Given the description of an element on the screen output the (x, y) to click on. 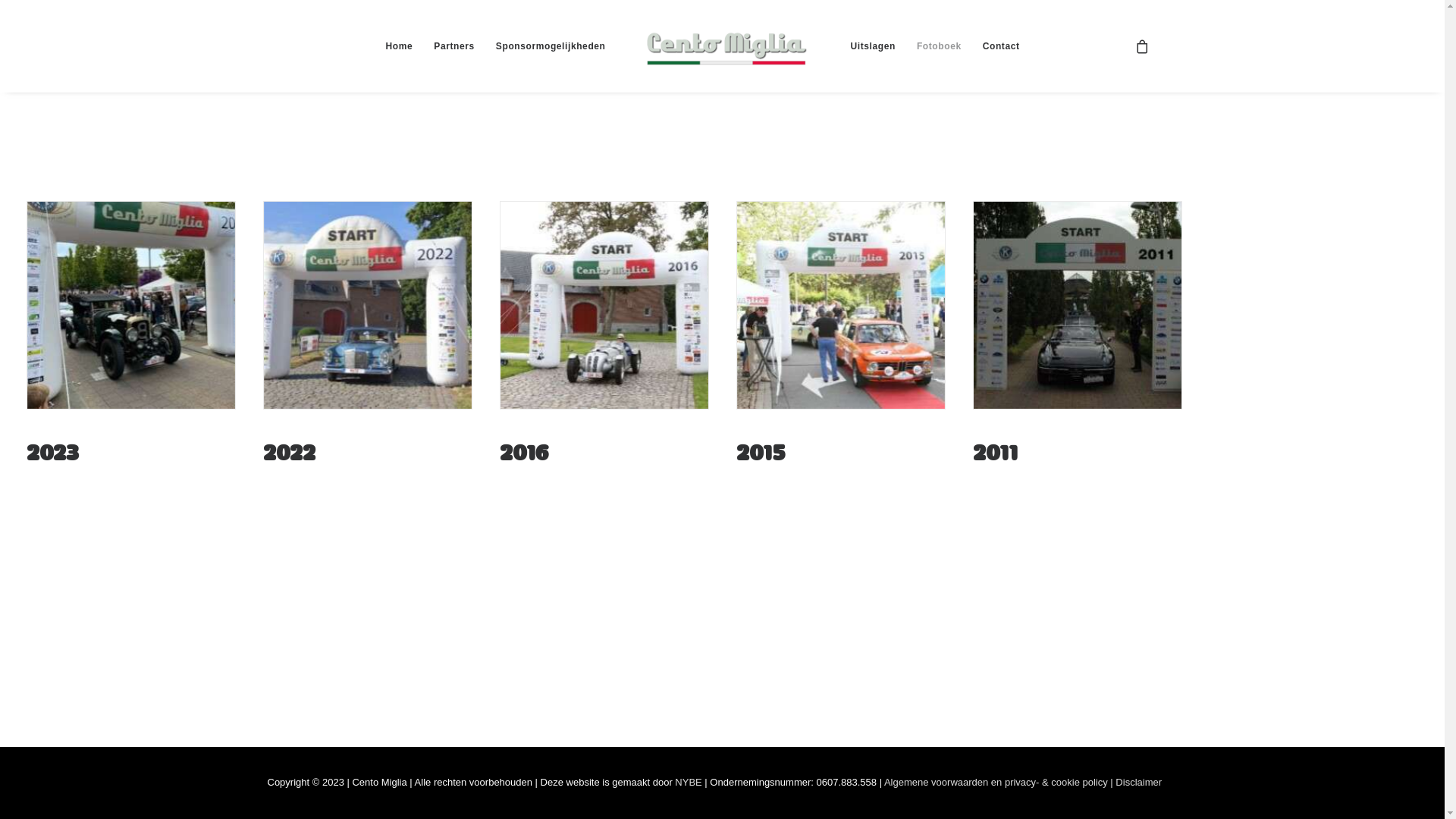
NYBE Element type: text (687, 781)
Contact Element type: text (1001, 46)
2022 Element type: text (288, 449)
Sponsormogelijkheden Element type: text (550, 46)
2016 Element type: text (522, 449)
Uitslagen Element type: text (872, 46)
cart Element type: hover (1141, 46)
Home Element type: text (399, 46)
2015 Element type: text (759, 449)
Partners Element type: text (454, 46)
2023 Element type: text (51, 449)
2011 Element type: text (994, 449)
Fotoboek Element type: text (939, 46)
